Given the description of an element on the screen output the (x, y) to click on. 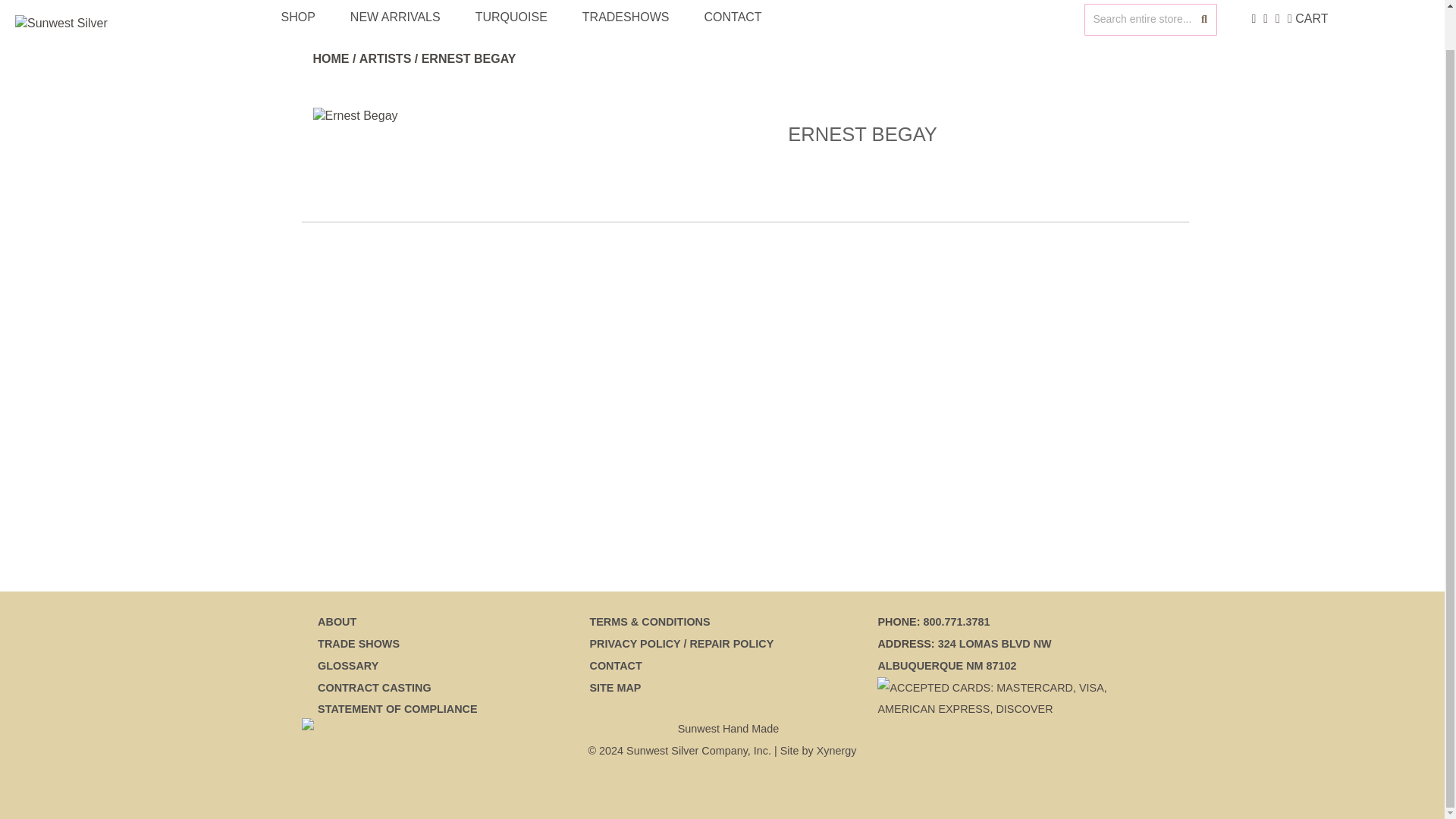
Artists (384, 58)
Search (1204, 19)
Go to Home Page (331, 58)
NEW ARRIVALS (395, 17)
TRADESHOWS (625, 17)
Sunwest Silver (81, 23)
Sunwest Silver (74, 23)
TURQUOISE (511, 17)
Contract Casting (373, 687)
SHOP (298, 17)
